Given the description of an element on the screen output the (x, y) to click on. 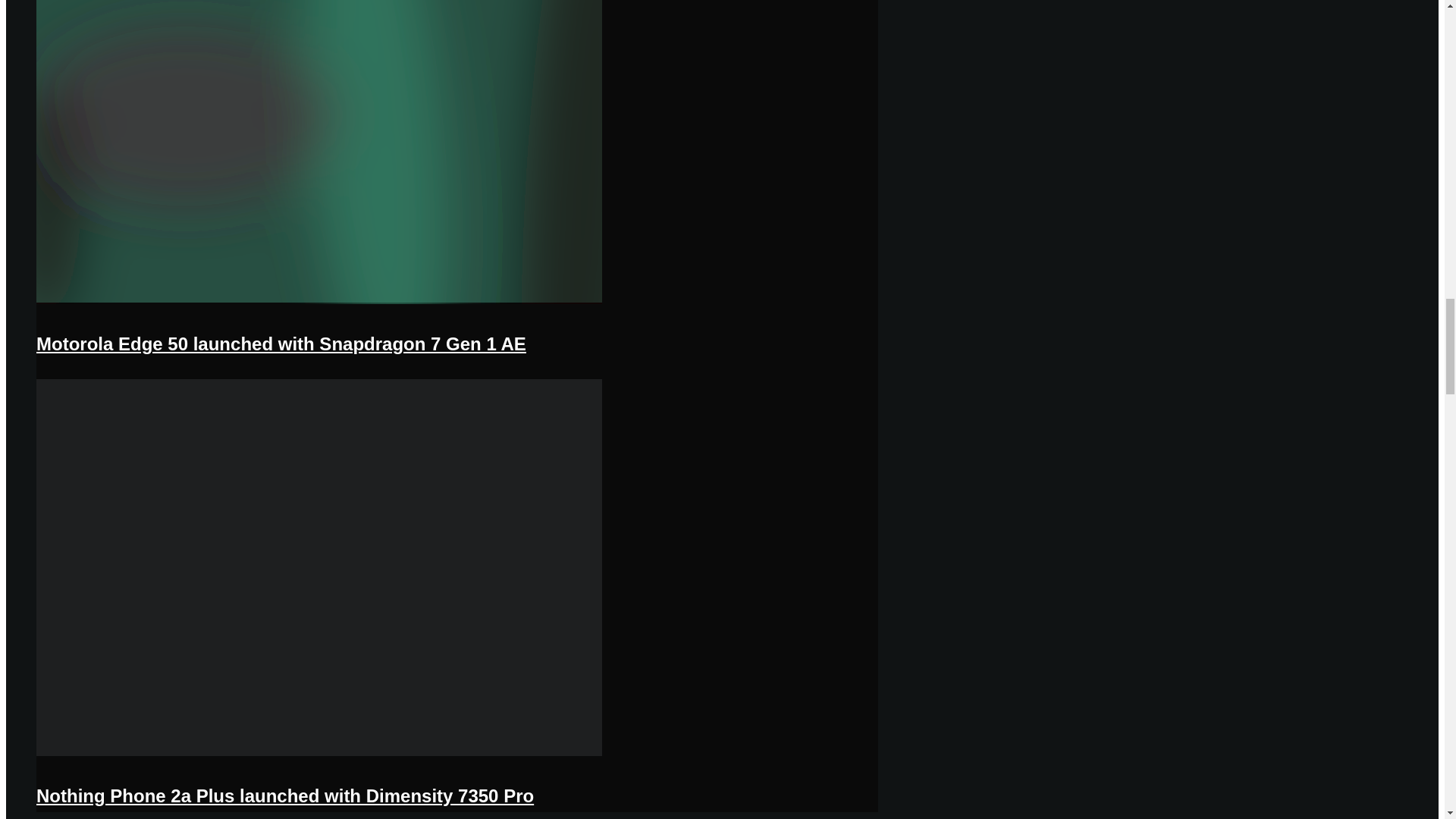
Motorola Edge 50 Cameras (319, 300)
Nothing Phone 2a Plus launched with Dimensity 7350 Pro (285, 795)
Motorola Edge 50 launched with Snapdragon 7 Gen 1 AE (280, 343)
Nothing Phone 2a Plus Design 1 (319, 752)
